Given the description of an element on the screen output the (x, y) to click on. 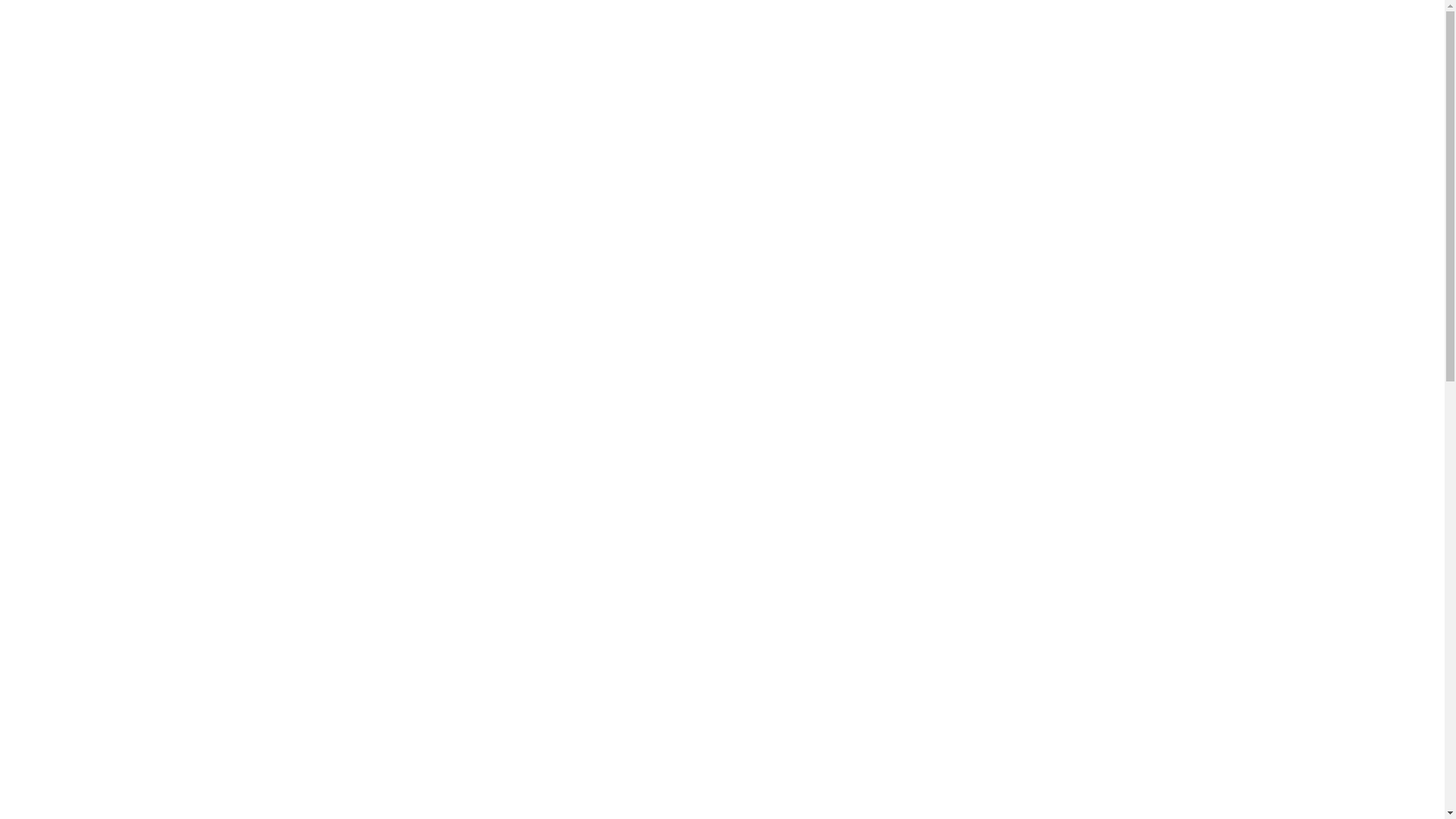
Shop Element type: text (714, 136)
Gallery Element type: text (965, 136)
Home Element type: text (665, 136)
Contact Element type: text (1163, 136)
Treatments Element type: text (898, 136)
Pricelist Element type: text (1103, 136)
The Team Element type: text (823, 136)
About Element type: text (763, 136)
COSMETIC EFFECTS. Element type: text (372, 33)
Promotions Element type: text (1033, 136)
